Given the description of an element on the screen output the (x, y) to click on. 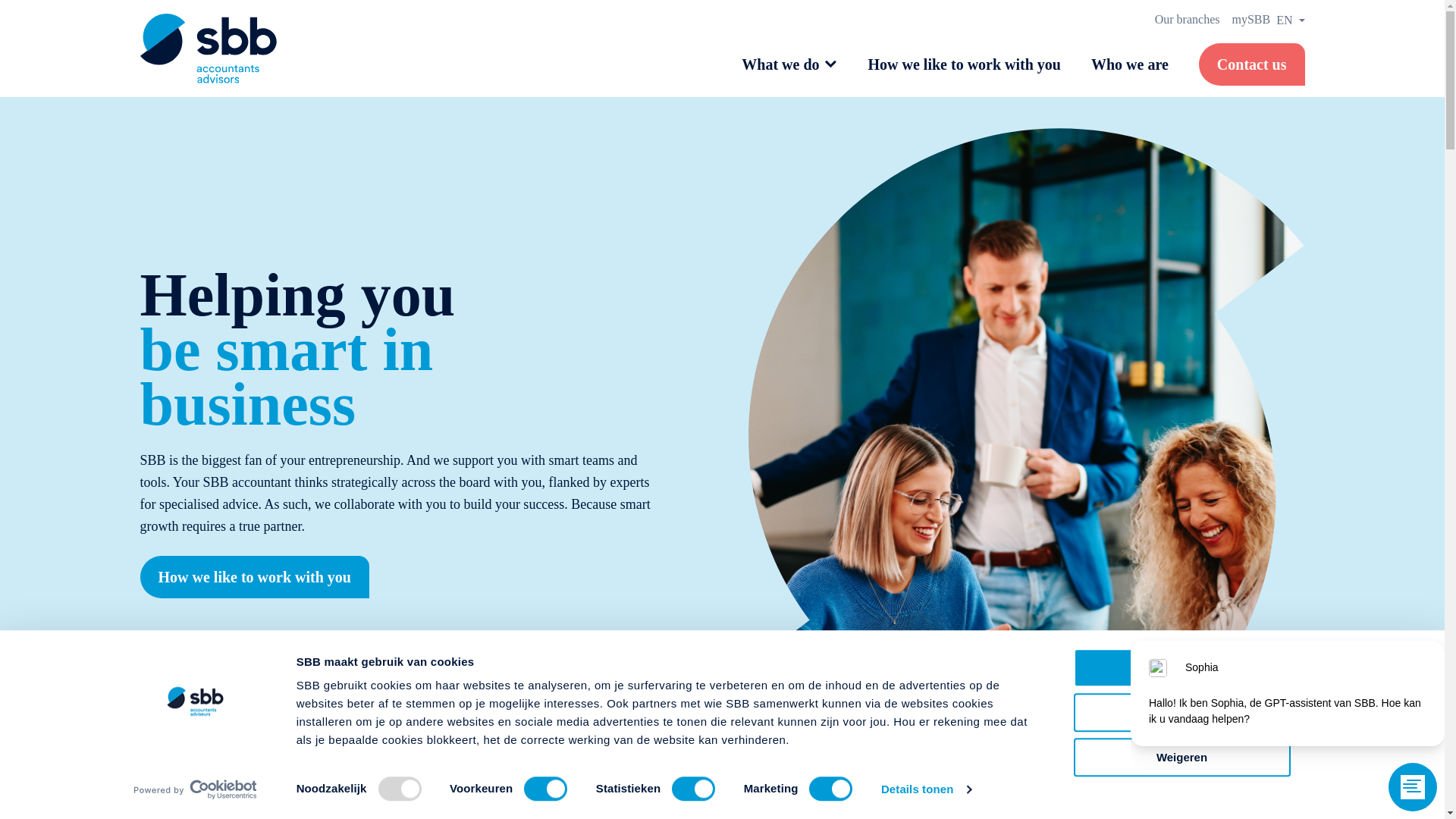
How we like to work with you (253, 577)
Details tonen (925, 789)
Home (207, 48)
